Given the description of an element on the screen output the (x, y) to click on. 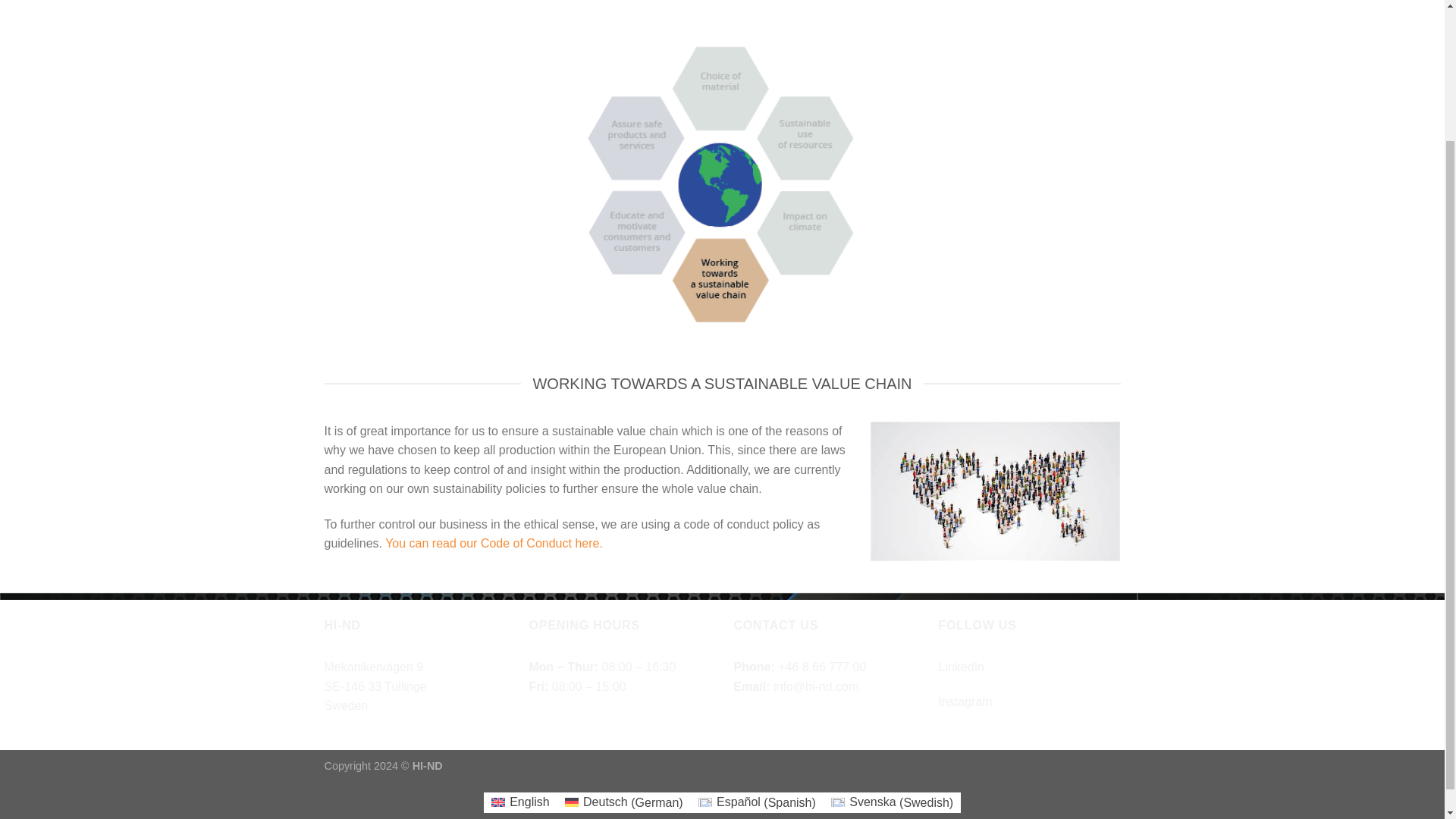
LinkedIn (962, 666)
Instagram (965, 701)
You can read our Code of Conduct here. (493, 543)
